Given the description of an element on the screen output the (x, y) to click on. 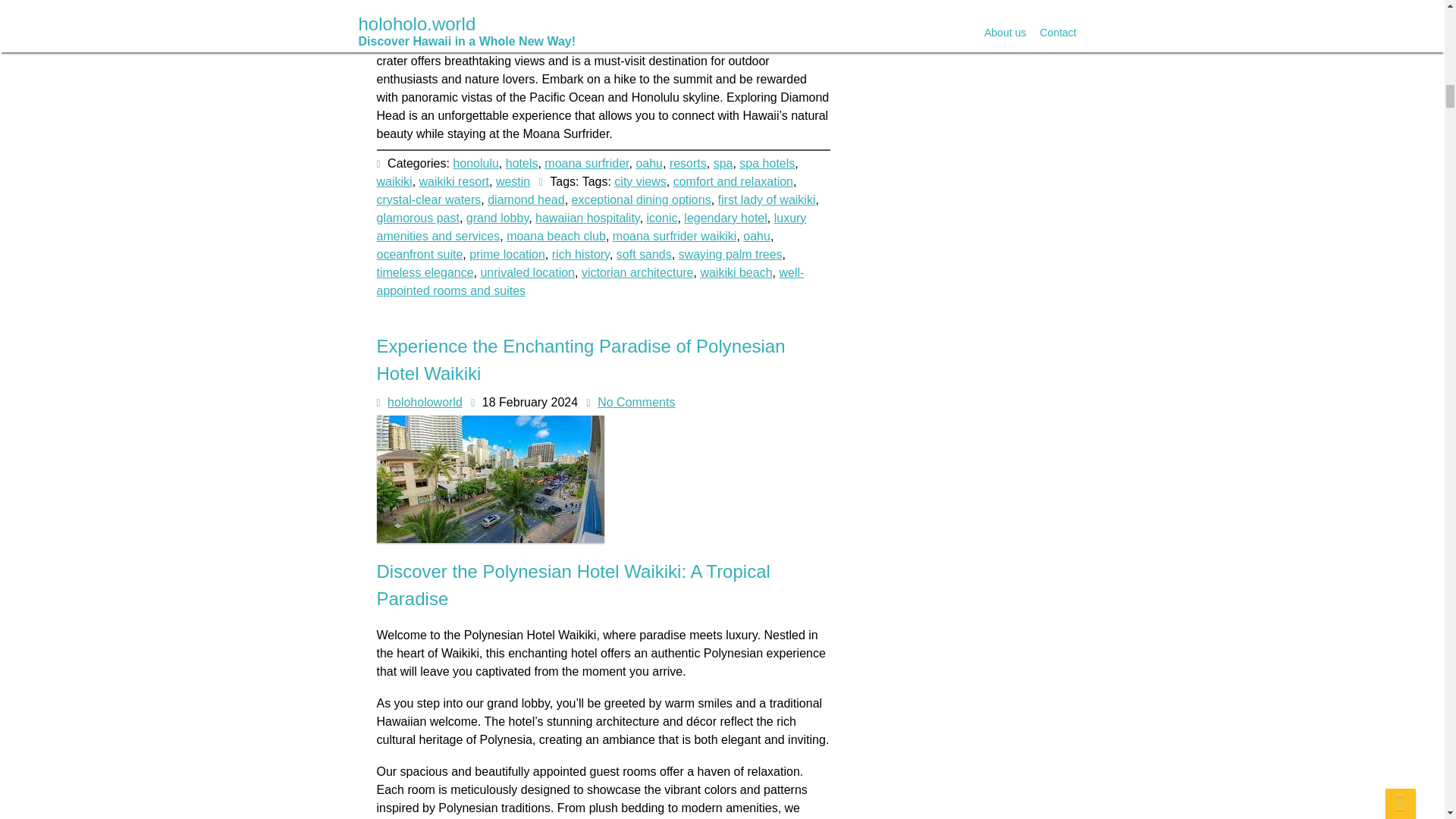
Posts by holoholoworld (425, 401)
